Given the description of an element on the screen output the (x, y) to click on. 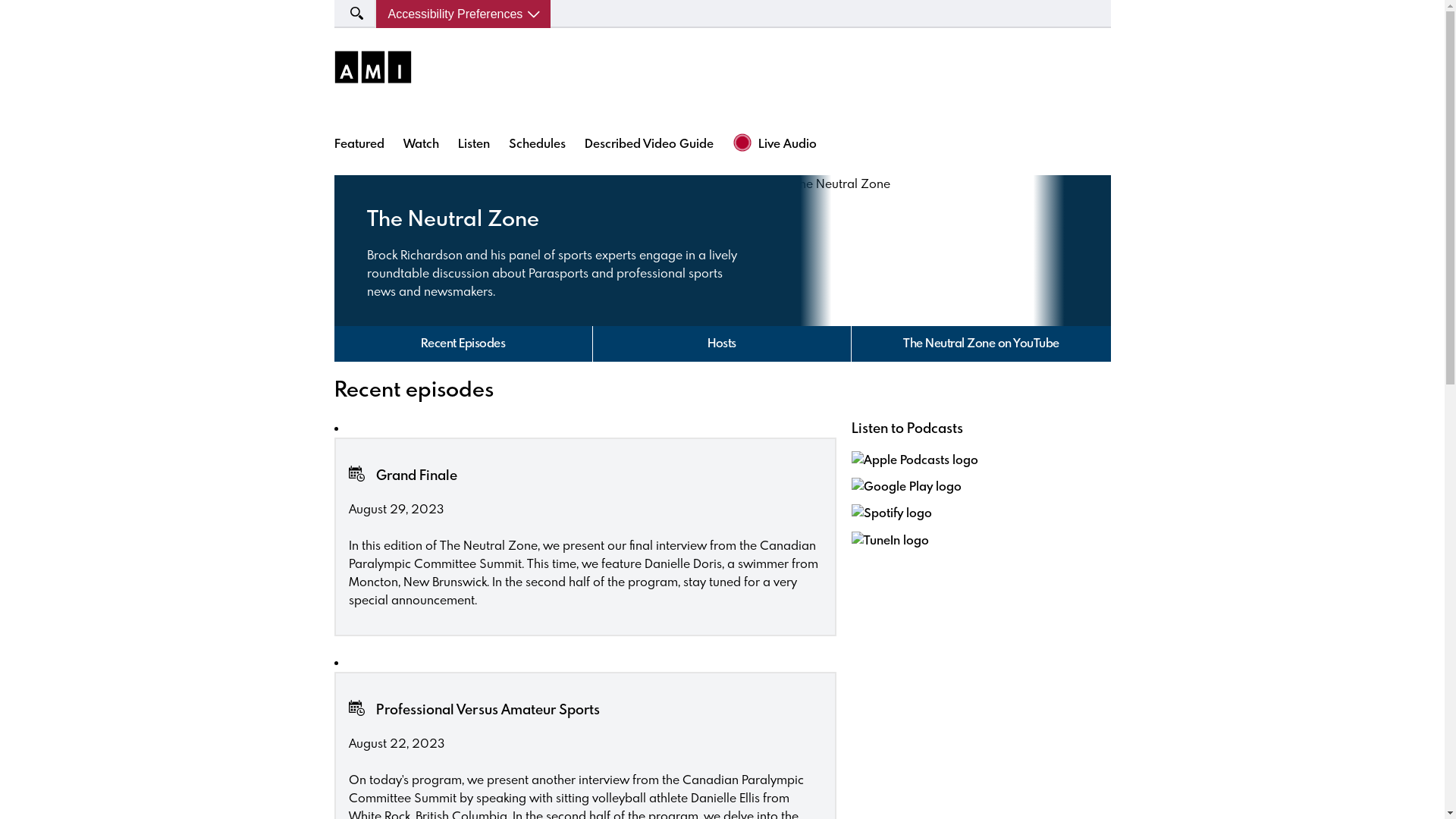
Watch Element type: text (421, 143)
Skip category navigation Element type: text (333, 326)
The Neutral Zone on YouTube Element type: text (980, 343)
Skip to main content Element type: text (0, 0)
Listen Element type: text (473, 143)
Schedules Element type: text (536, 143)
Described Video Guide Element type: text (647, 143)
Live Audio Element type: text (803, 143)
Search Element type: text (32, 12)
Featured Element type: text (358, 143)
Accessibility Preferences Element type: text (463, 14)
Enter the terms you wish to search for. Element type: hover (354, 13)
Recent Episodes Element type: text (462, 343)
Hosts Element type: text (721, 343)
